Given the description of an element on the screen output the (x, y) to click on. 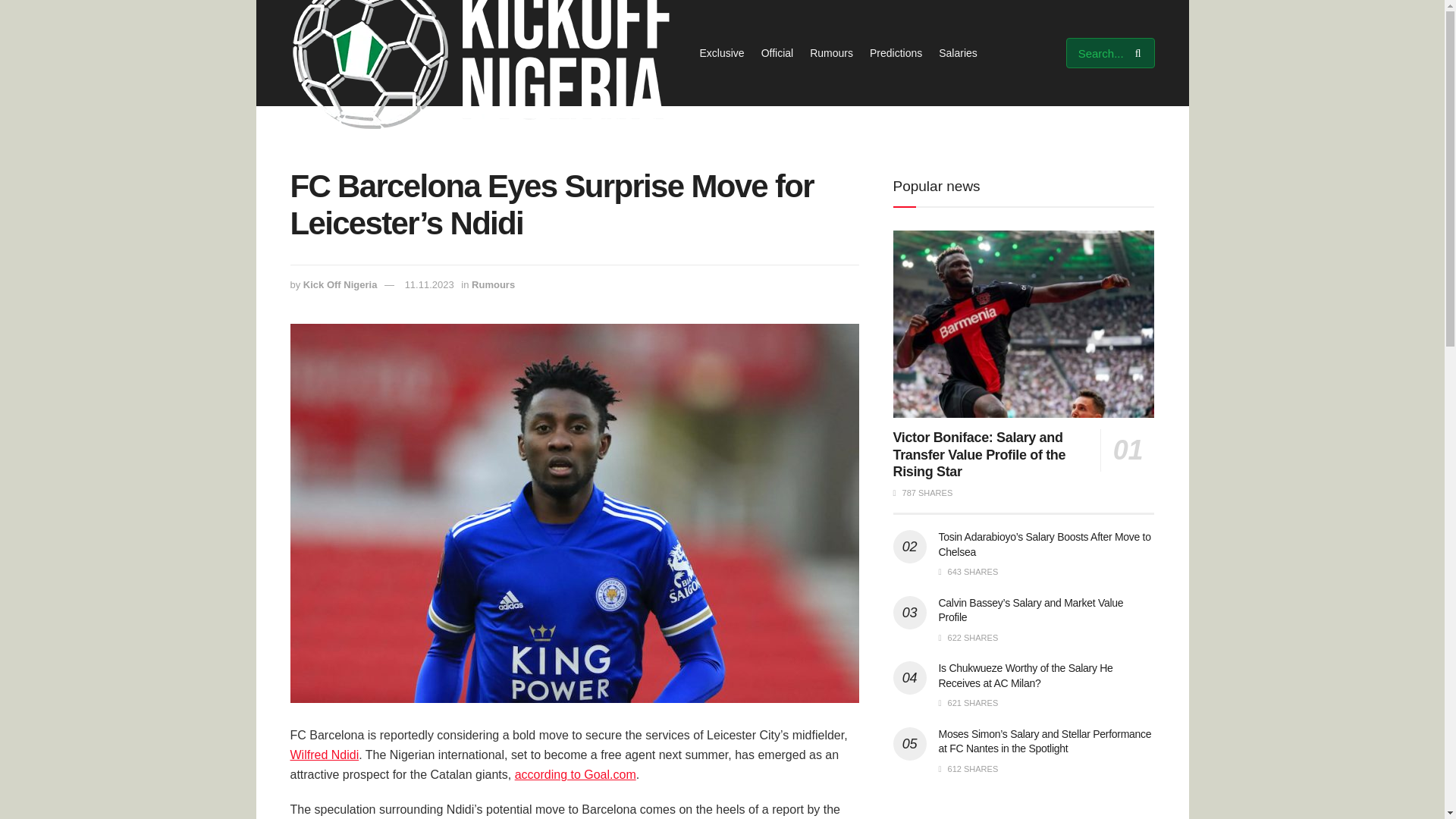
according to Goal.com (575, 774)
Predictions (895, 52)
Official (777, 52)
Salaries (957, 52)
Rumours (493, 284)
Kick Off Nigeria (339, 284)
Rumours (831, 52)
Wilfred Ndidi (323, 754)
Exclusive (721, 52)
11.11.2023 (429, 284)
